Given the description of an element on the screen output the (x, y) to click on. 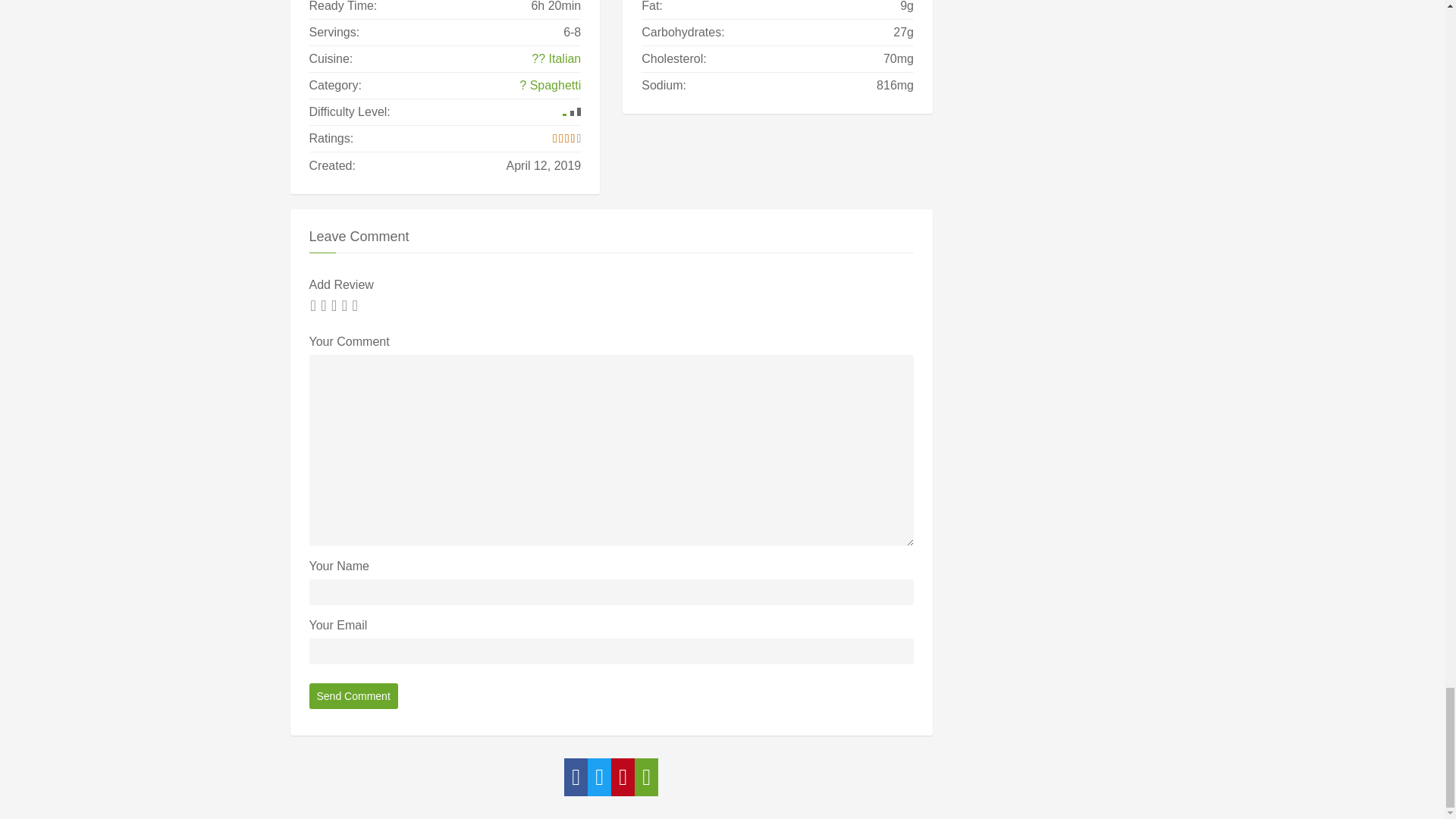
Send Comment (352, 696)
?? Italian (555, 58)
Send Comment (352, 696)
? Spaghetti (549, 85)
